Given the description of an element on the screen output the (x, y) to click on. 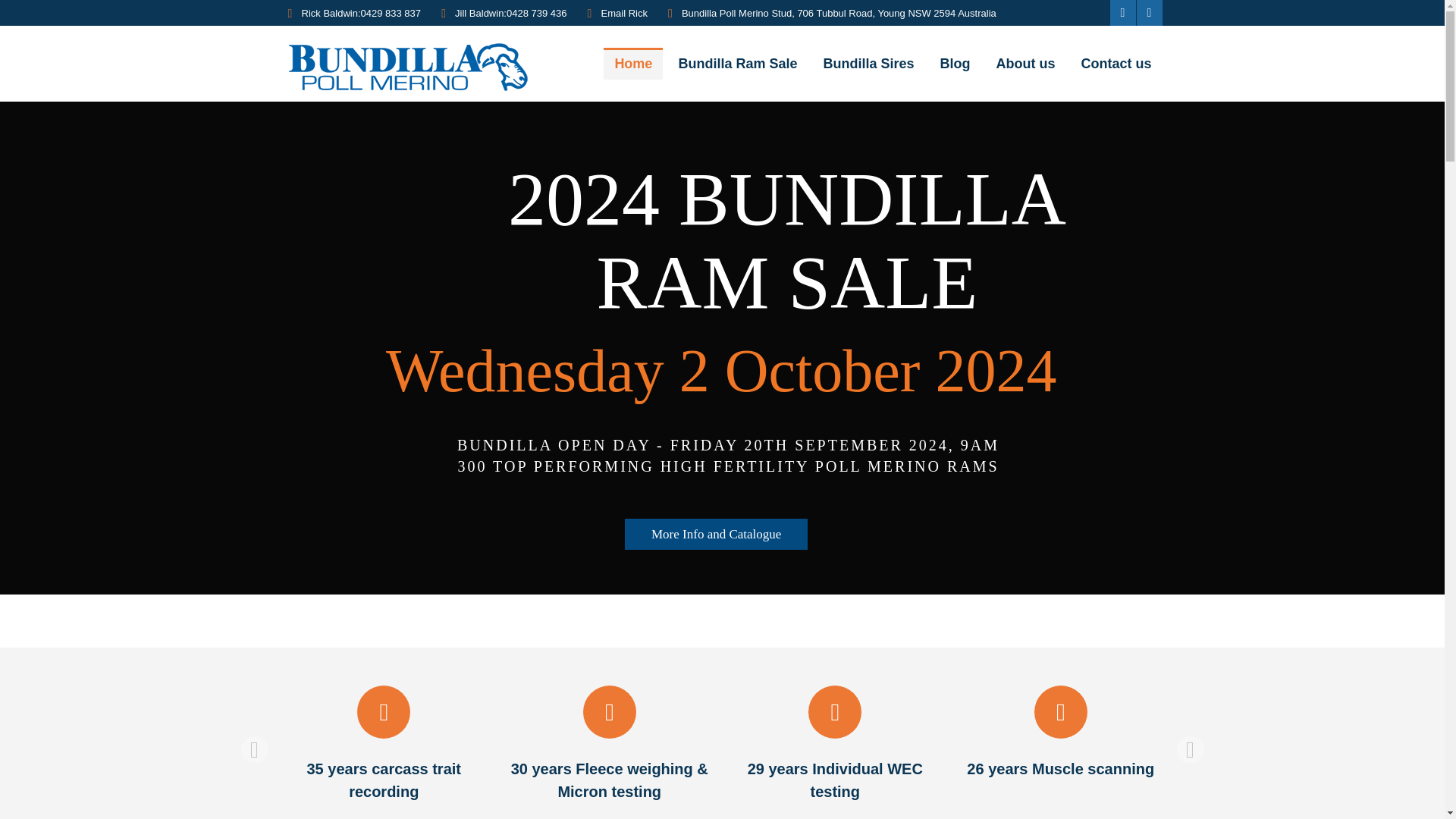
Contact us (1115, 63)
0429 833 837 (391, 12)
Mail page opens in new window (1148, 12)
0428 739 436 (536, 12)
Home (633, 63)
Bundilla Ram Sale (737, 63)
Email Rick (624, 12)
Facebook page opens in new window (1122, 12)
Bundilla Sires (868, 63)
Blog (953, 63)
About us (1025, 63)
Facebook page opens in new window (1122, 12)
Mail page opens in new window (1148, 12)
